Given the description of an element on the screen output the (x, y) to click on. 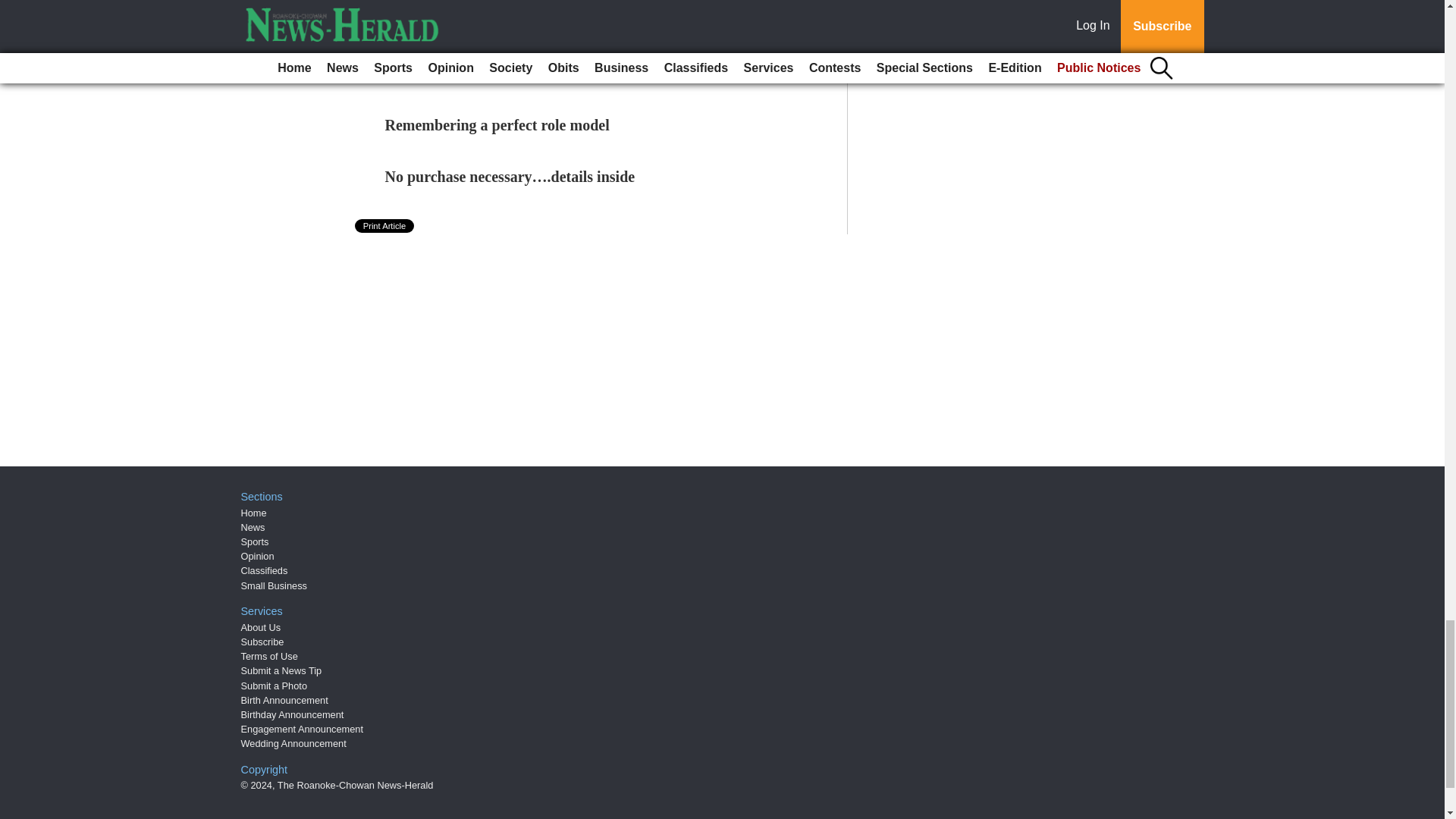
Remembering a perfect role model (497, 125)
Looks can be very deceiving (476, 21)
Looks can be very deceiving (476, 21)
Remembering a perfect role model (497, 125)
